Given the description of an element on the screen output the (x, y) to click on. 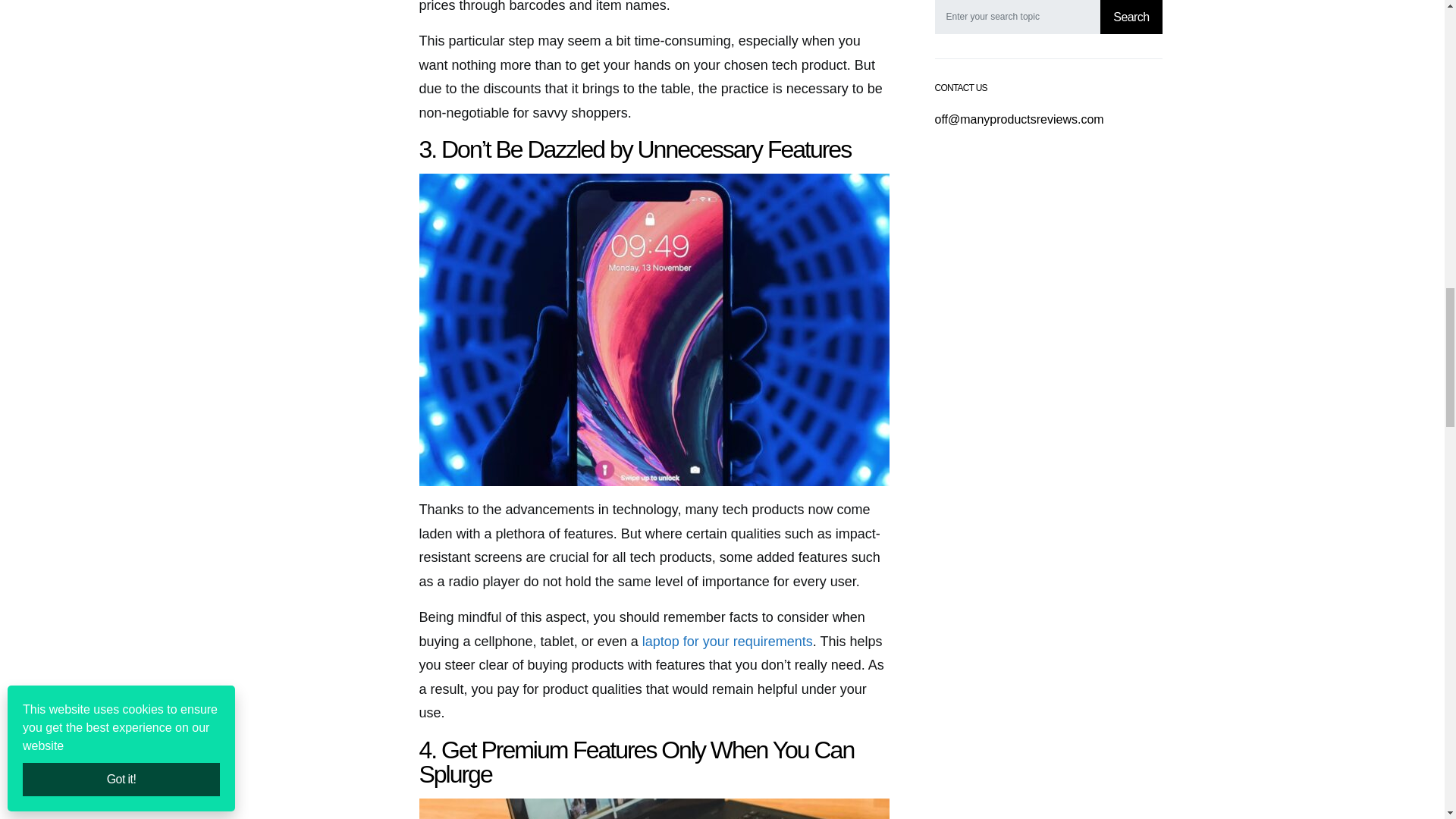
5 Things to Consider When Buying New Tech Products (653, 808)
laptop for your requirements (727, 641)
